Given the description of an element on the screen output the (x, y) to click on. 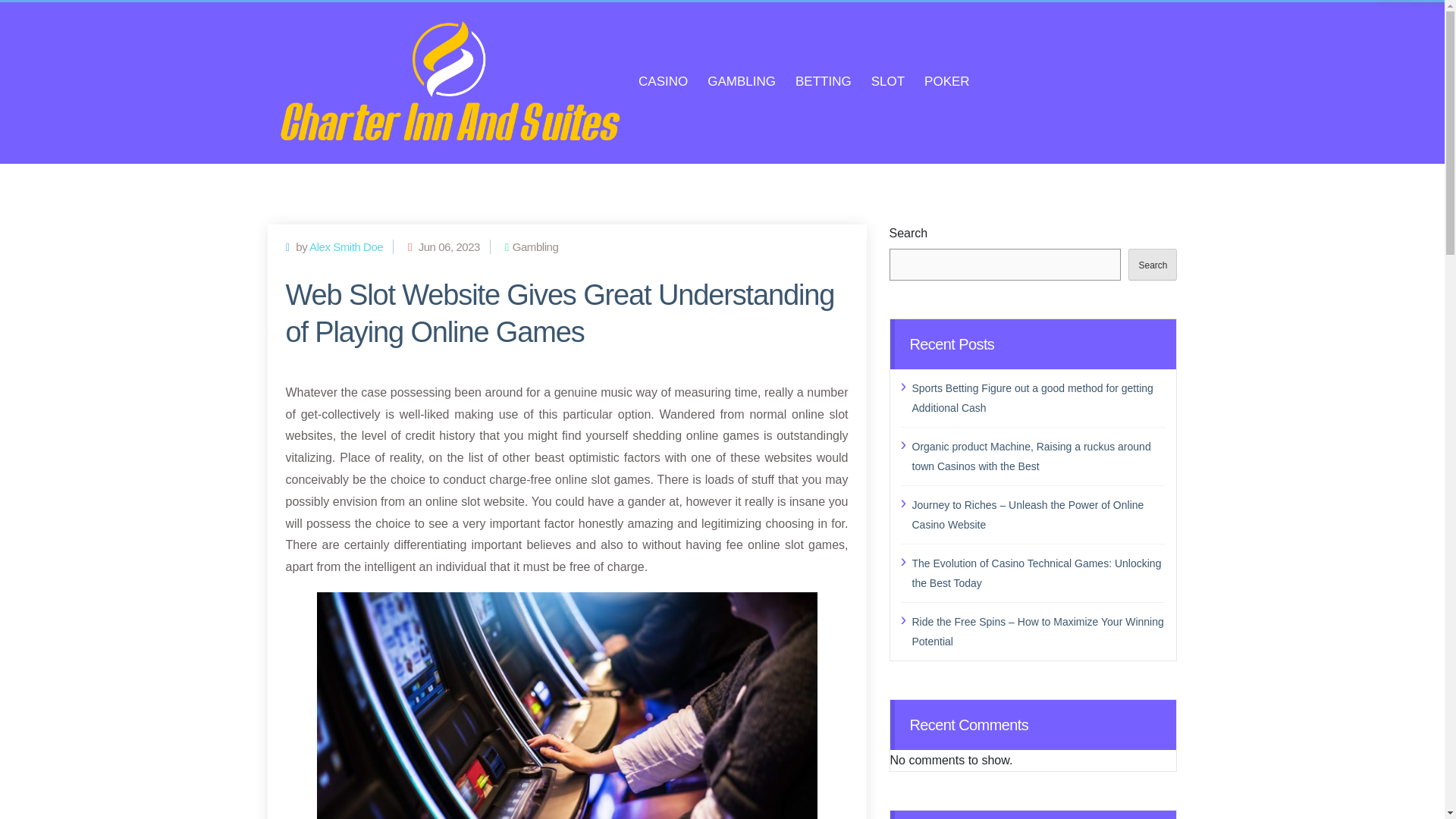
POKER (946, 81)
Search (1152, 264)
CASINO (663, 81)
BETTING (822, 81)
Alex Smith Doe (345, 246)
GAMBLING (741, 81)
